Given the description of an element on the screen output the (x, y) to click on. 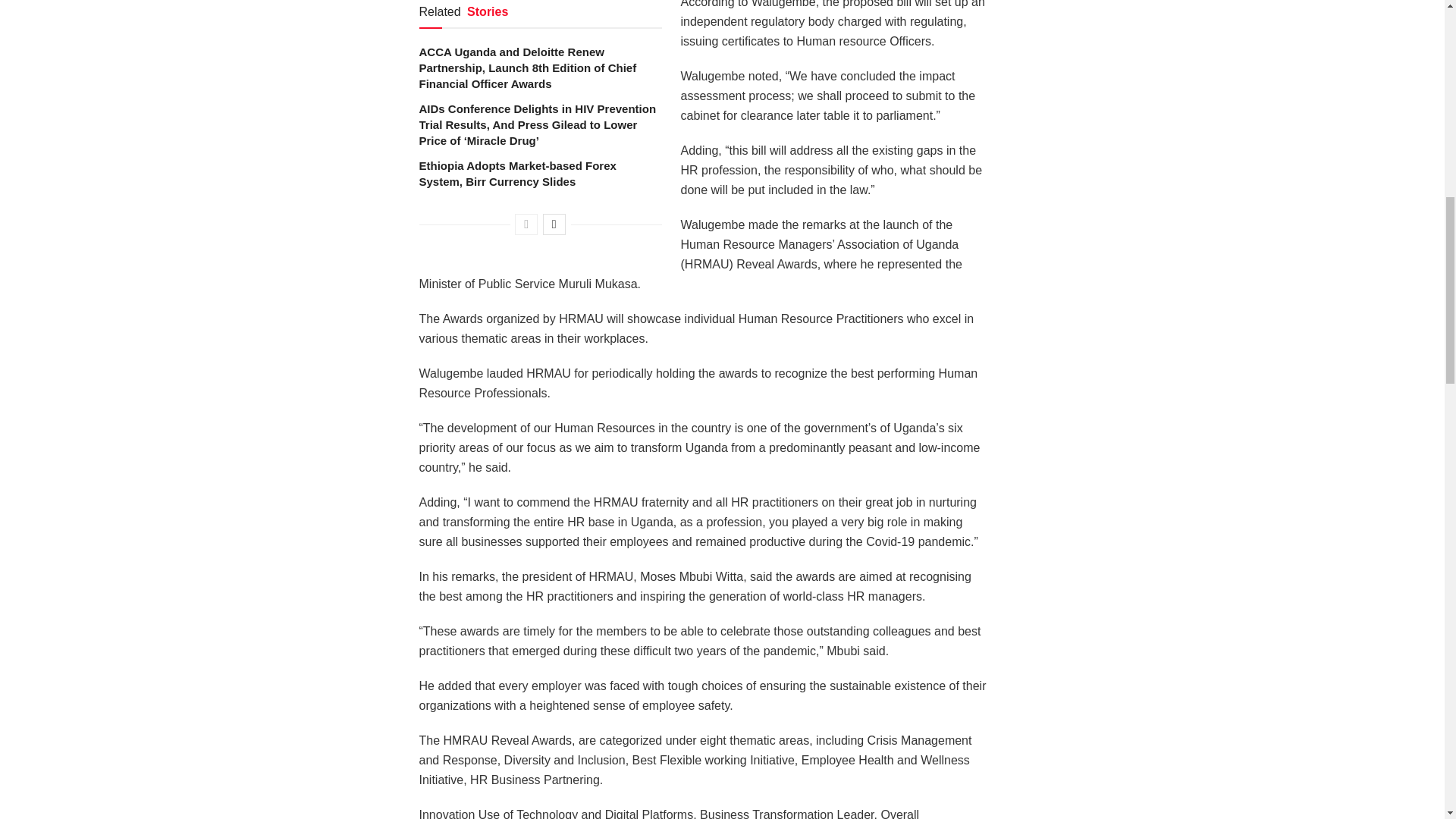
Next (554, 224)
Previous (526, 224)
